Given the description of an element on the screen output the (x, y) to click on. 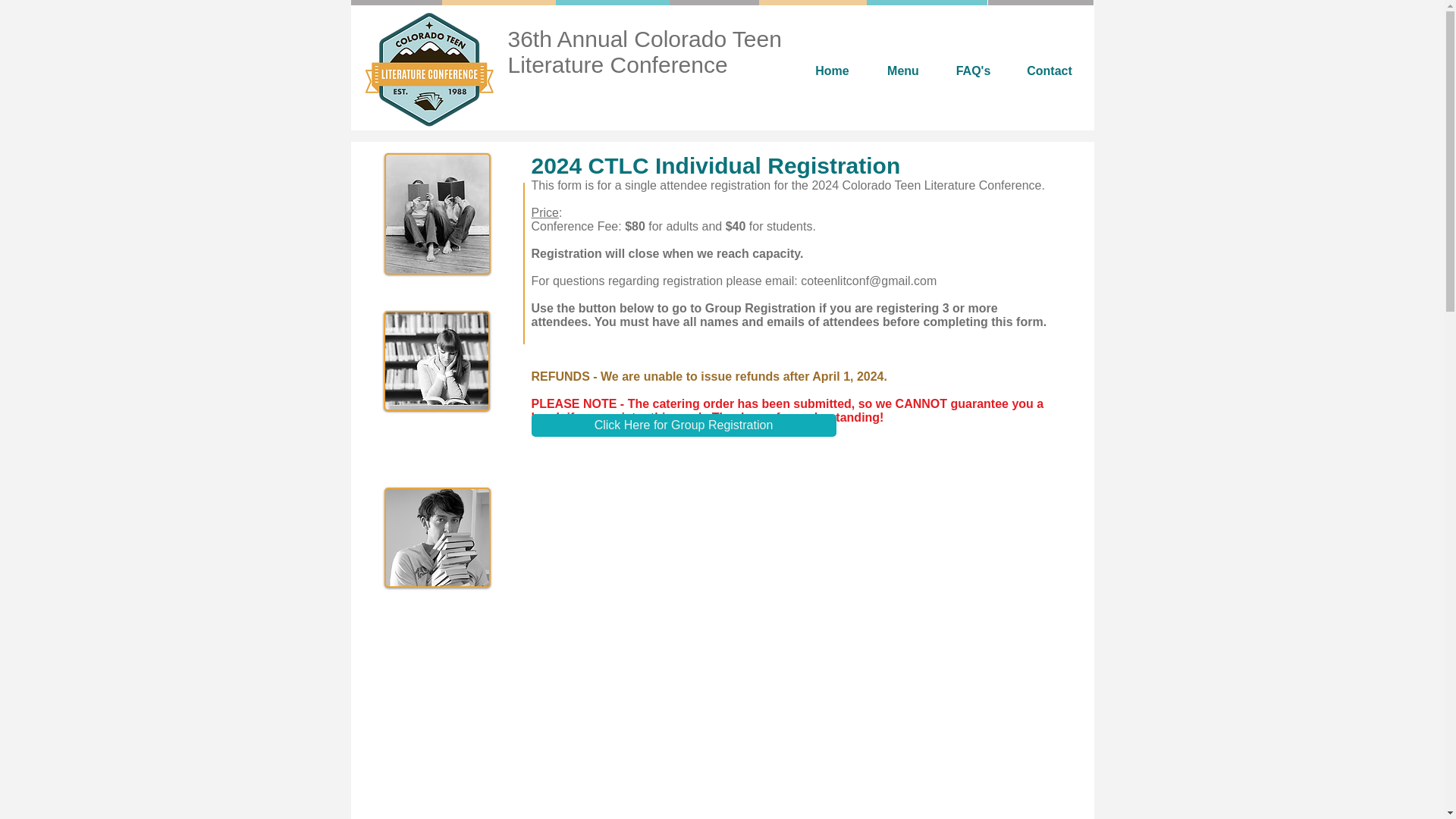
Menu (902, 70)
FAQ's (974, 70)
Home (831, 70)
Click Here for Group Registration (683, 425)
Contact (1049, 70)
